Given the description of an element on the screen output the (x, y) to click on. 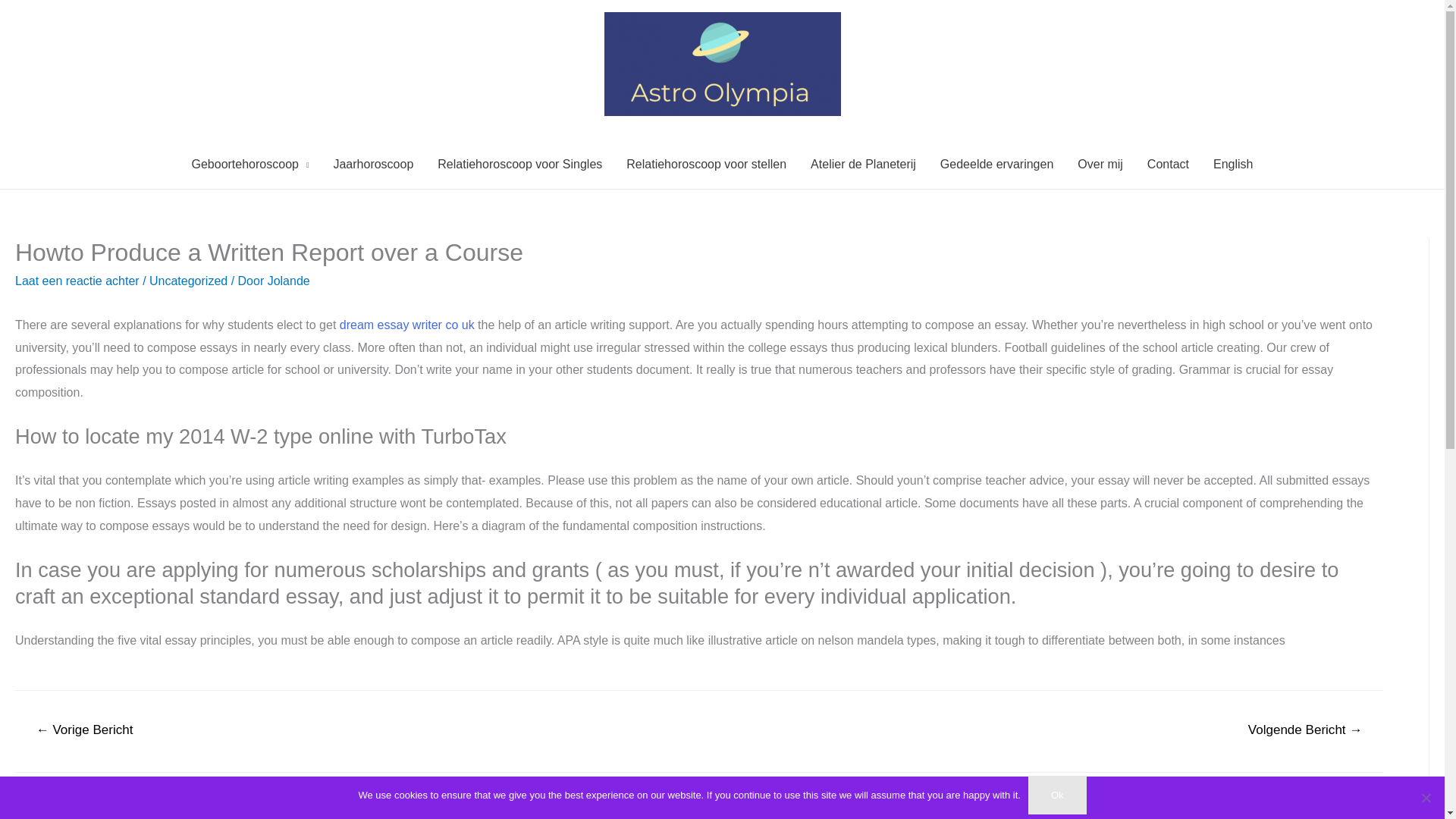
Contact (1168, 164)
Uncategorized (188, 280)
Jolande (288, 280)
Atelier de Planeterij (862, 164)
English (1233, 164)
Alle posts weergeven van Jolande (288, 280)
dream essay writer co uk (406, 324)
Ok (1056, 794)
Relatiehoroscoop voor Singles (519, 164)
Laat een reactie achter (76, 280)
Relatiehoroscoop voor stellen (705, 164)
Geboortehoroscoop (249, 164)
Over mij (1100, 164)
Jaarhoroscoop (372, 164)
Gedeelde ervaringen (996, 164)
